Given the description of an element on the screen output the (x, y) to click on. 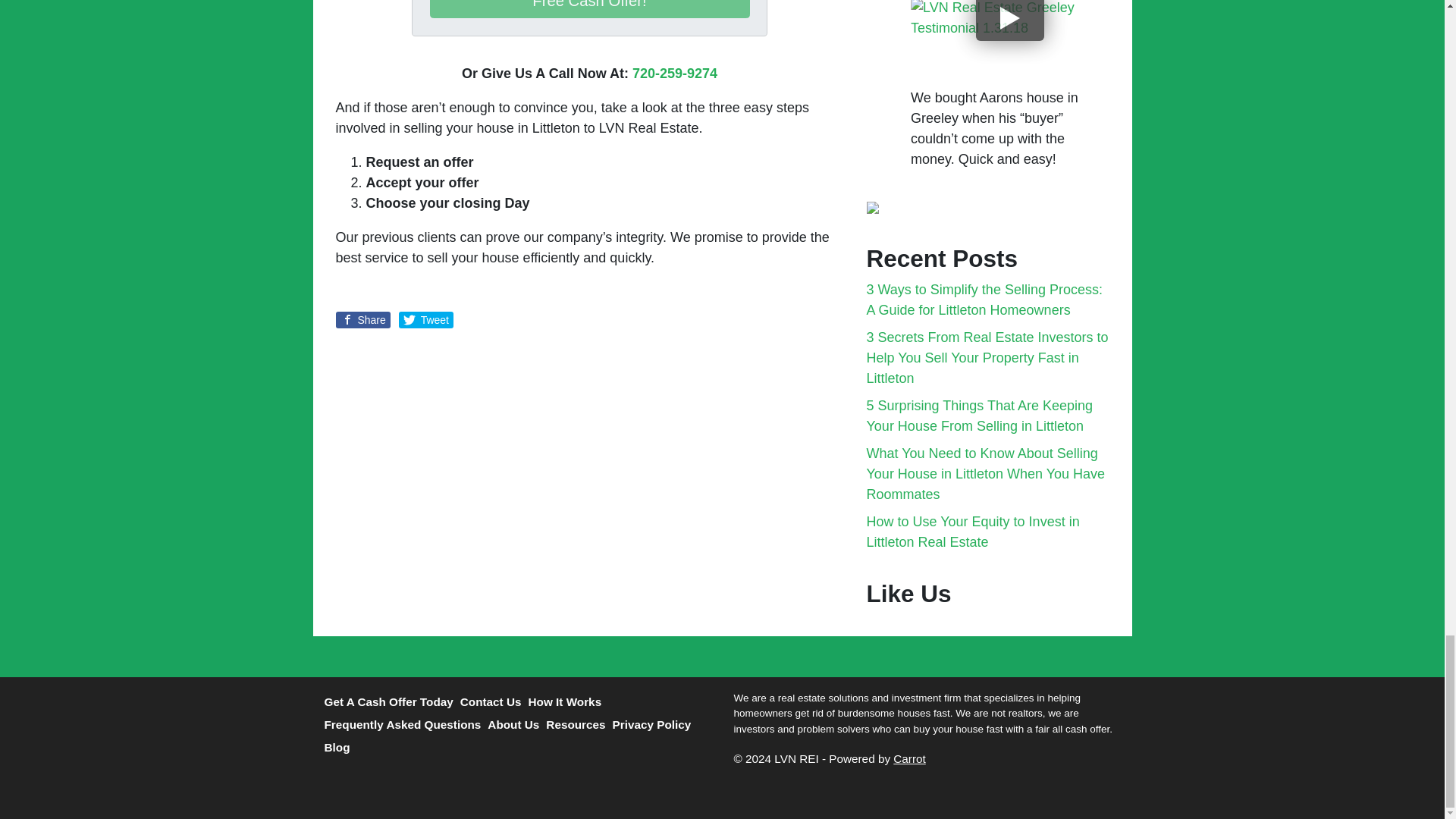
Tweet (425, 320)
Click To Submit Your Info And Get Your Free Cash Offer! (589, 9)
Share on Facebook (362, 320)
Share on Twitter (425, 320)
Share (362, 320)
720-259-9274 (674, 73)
Click To Submit Your Info And Get Your Free Cash Offer! (589, 9)
